Given the description of an element on the screen output the (x, y) to click on. 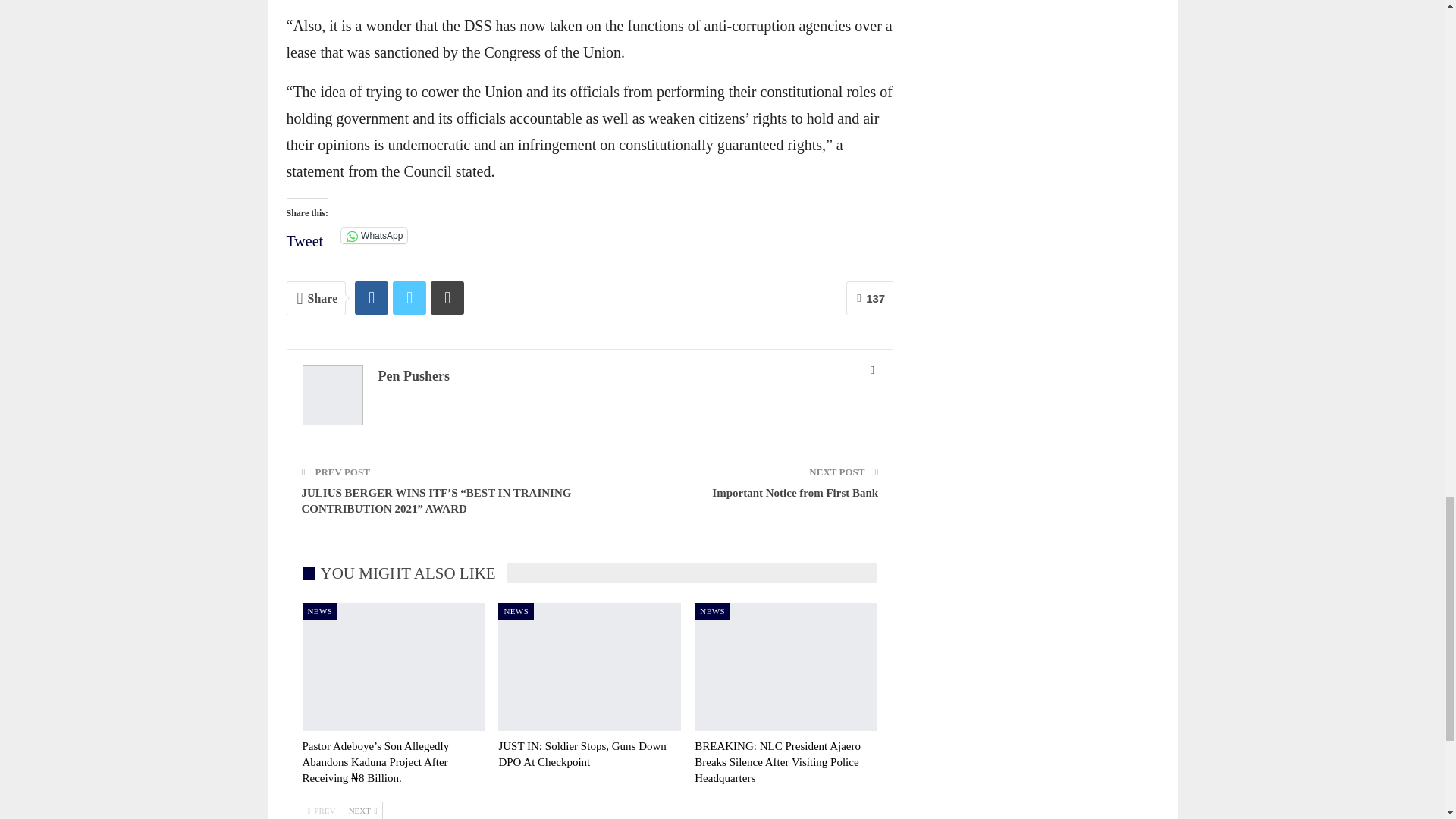
JUST IN: Soldier Stops, Guns Down DPO At Checkpoint (589, 666)
JUST IN: Soldier Stops, Guns Down DPO At Checkpoint (581, 754)
Click to share on WhatsApp (373, 235)
Previous (320, 810)
